Given the description of an element on the screen output the (x, y) to click on. 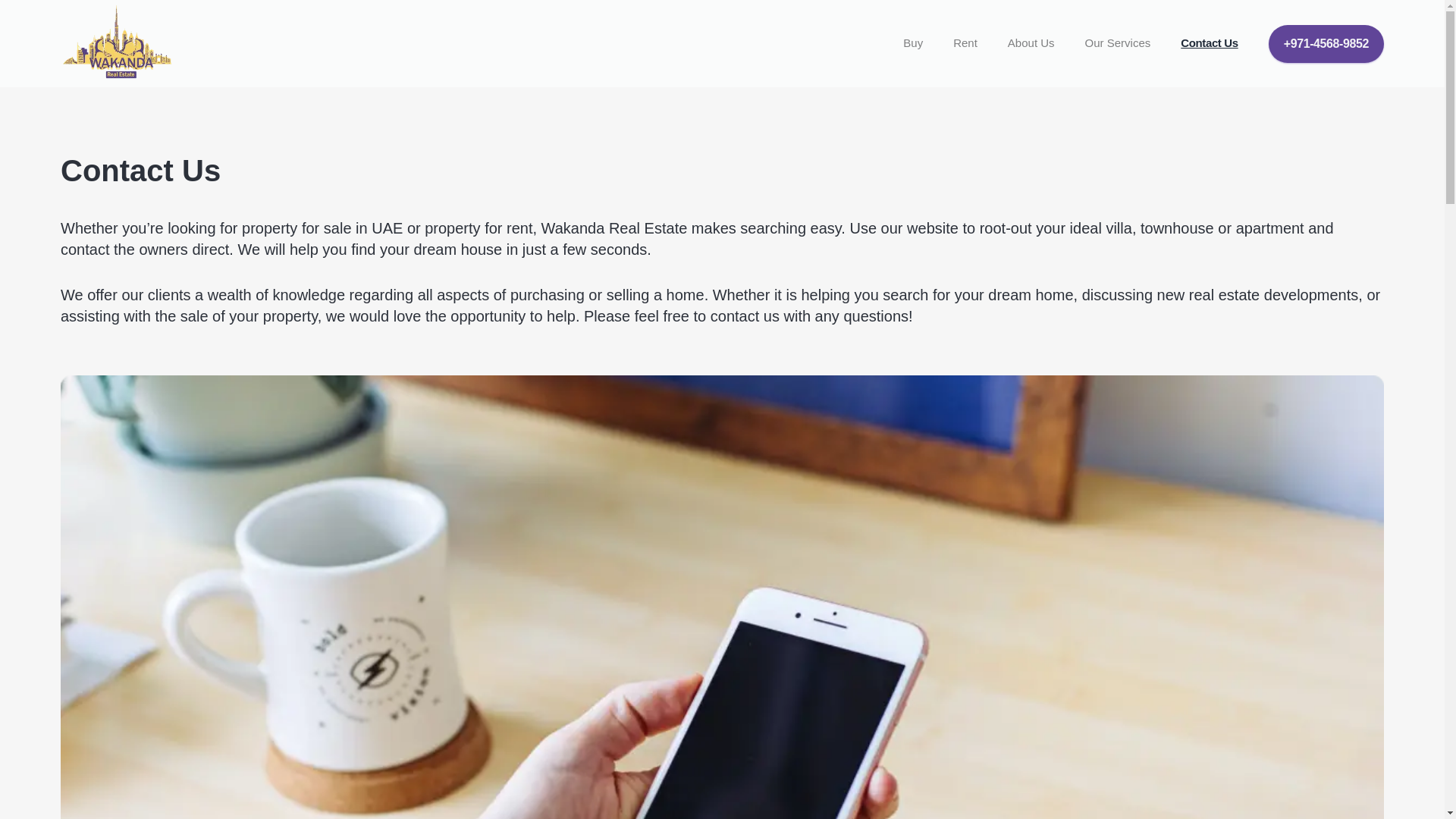
Rent (964, 43)
Our Services (1117, 43)
About Us (1030, 43)
Contact Us (1208, 43)
Buy (912, 43)
